Given the description of an element on the screen output the (x, y) to click on. 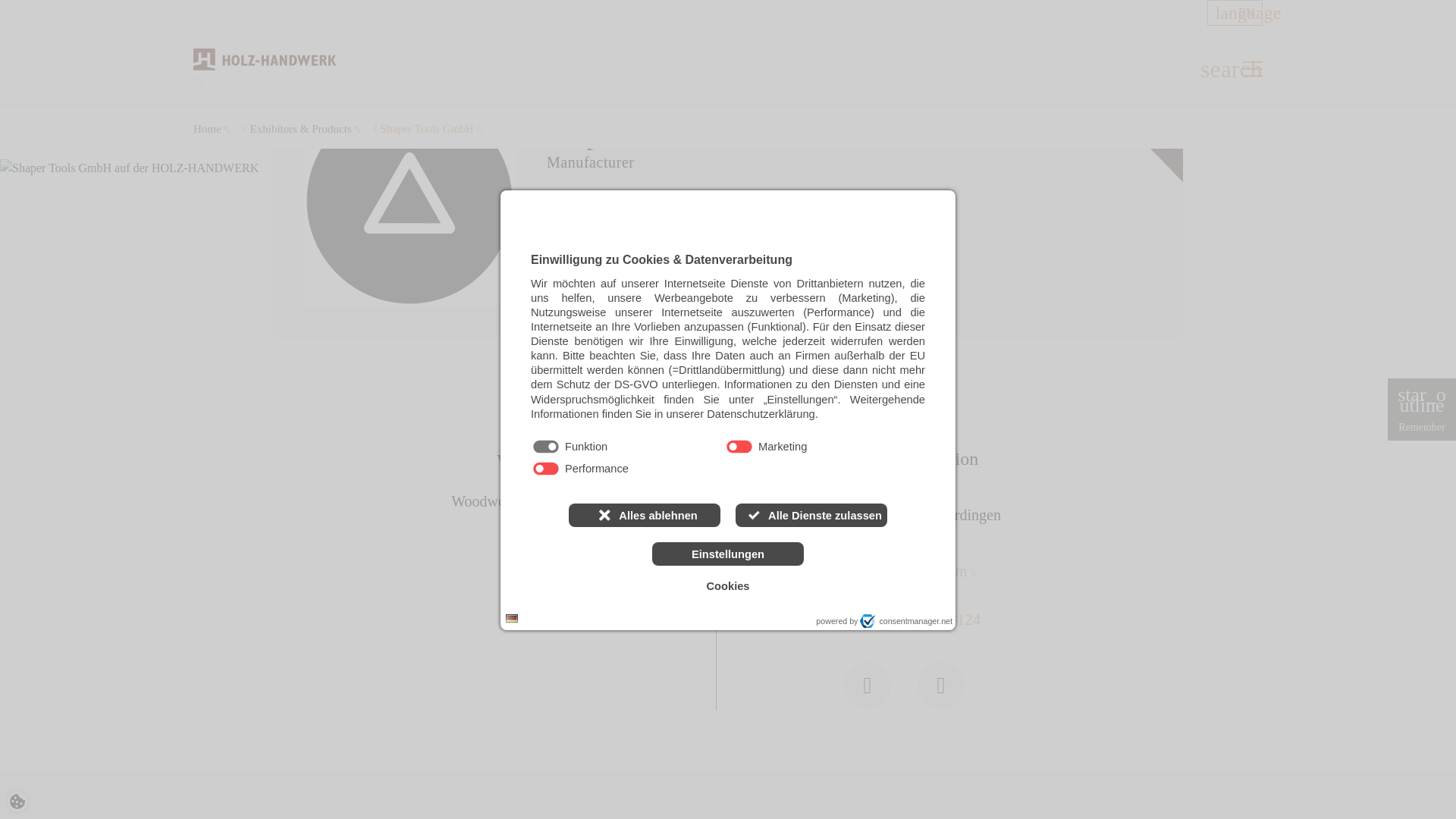
consentmanager.net (906, 620)
Sprache: de (511, 618)
Alle Dienste zulassen (810, 515)
Cookies (727, 586)
Alles ablehnen (644, 515)
Zweck (727, 458)
Einstellungen (727, 553)
Sprache: de (511, 618)
search (1211, 68)
